Given the description of an element on the screen output the (x, y) to click on. 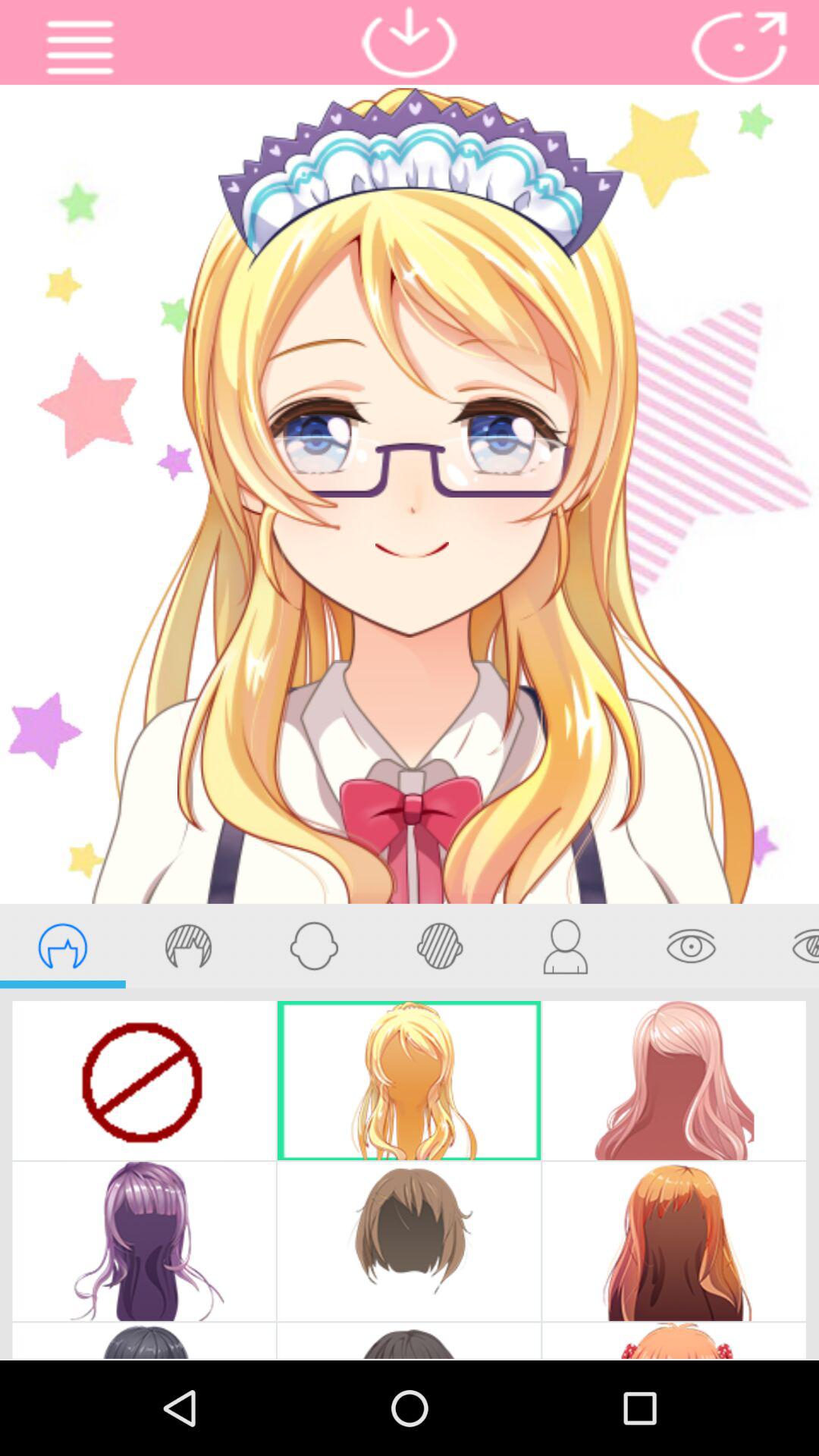
hair colour (188, 945)
